Given the description of an element on the screen output the (x, y) to click on. 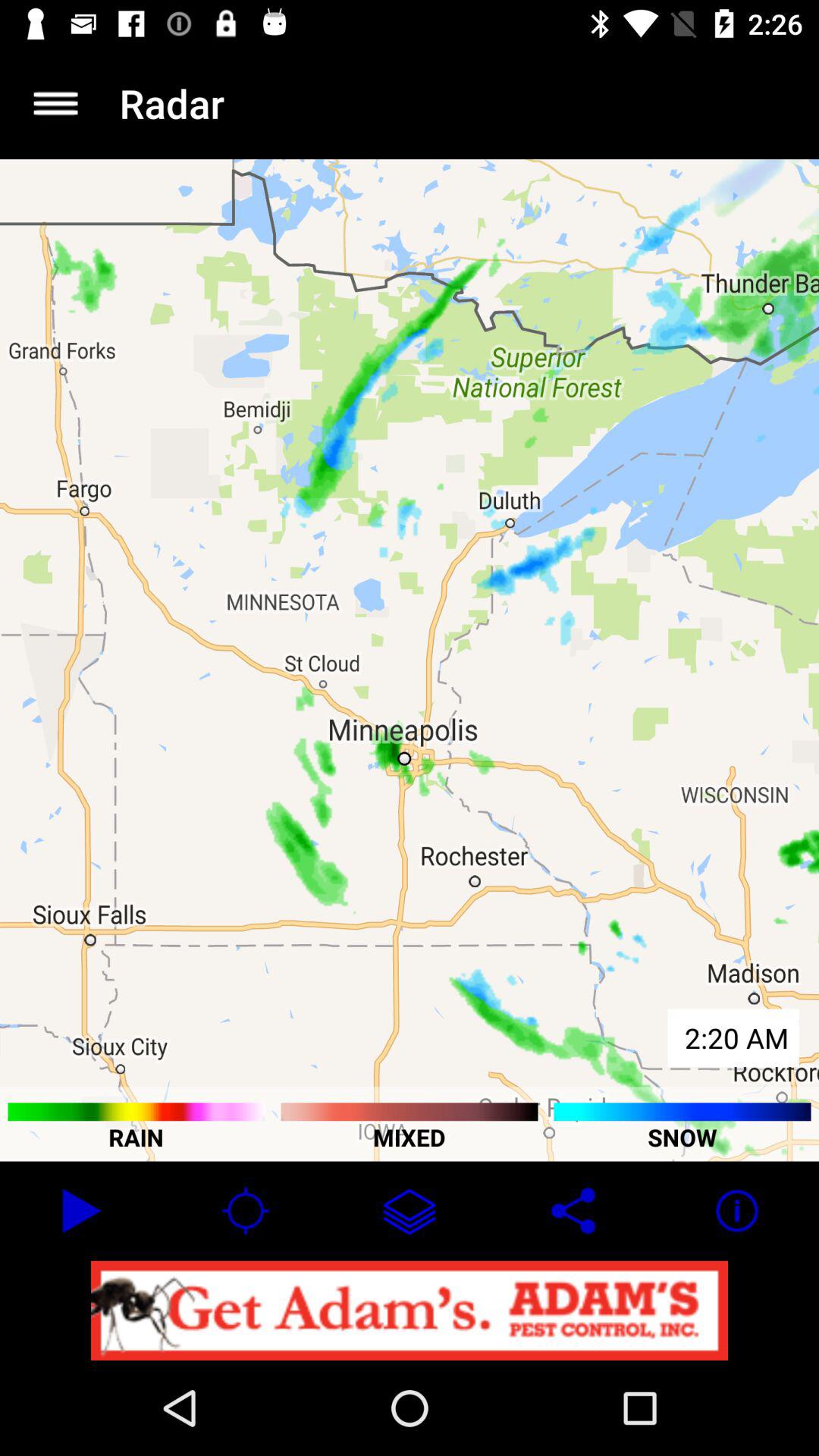
open advertisement link (409, 1310)
